Given the description of an element on the screen output the (x, y) to click on. 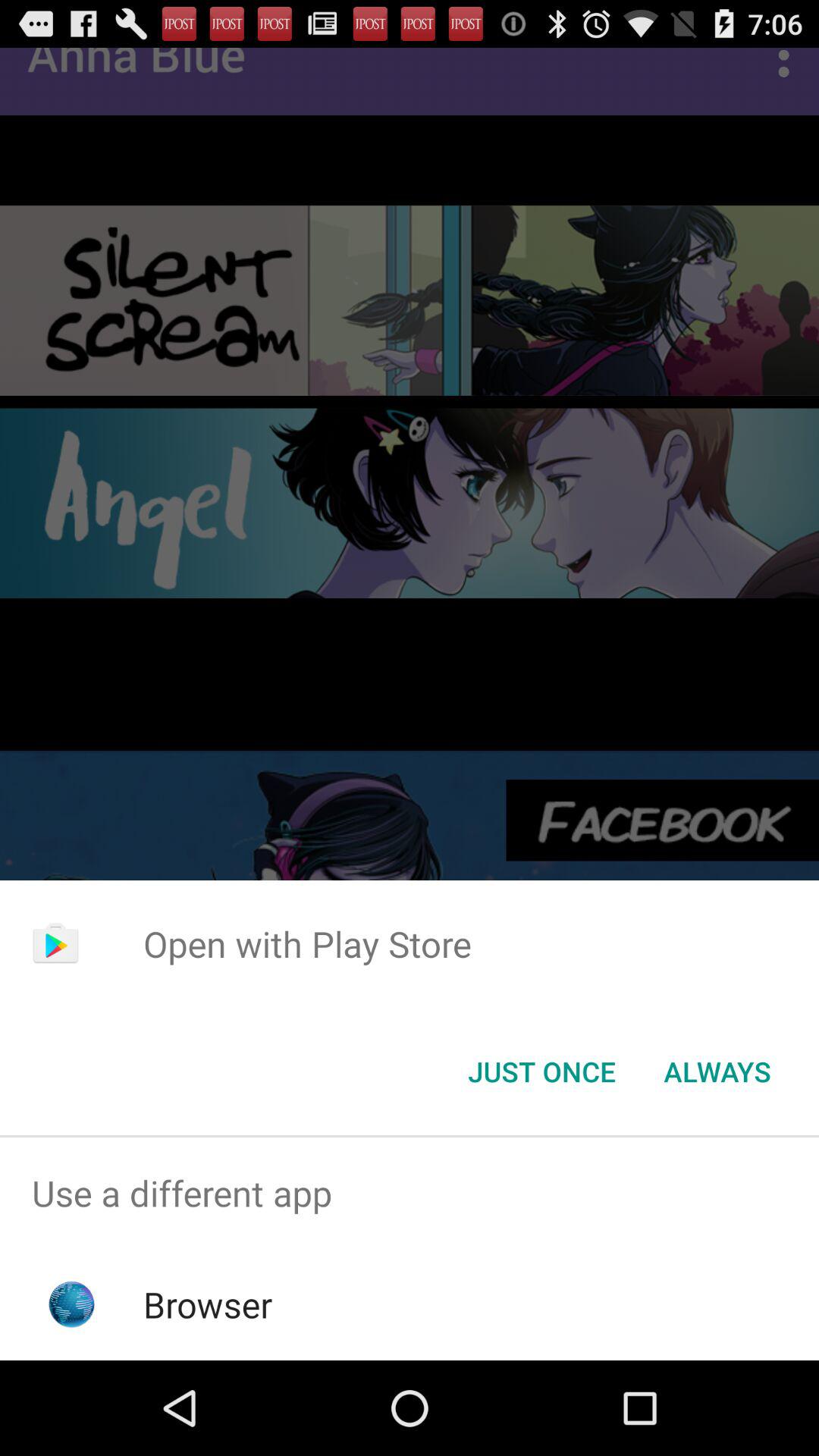
click the icon below use a different app (207, 1304)
